Given the description of an element on the screen output the (x, y) to click on. 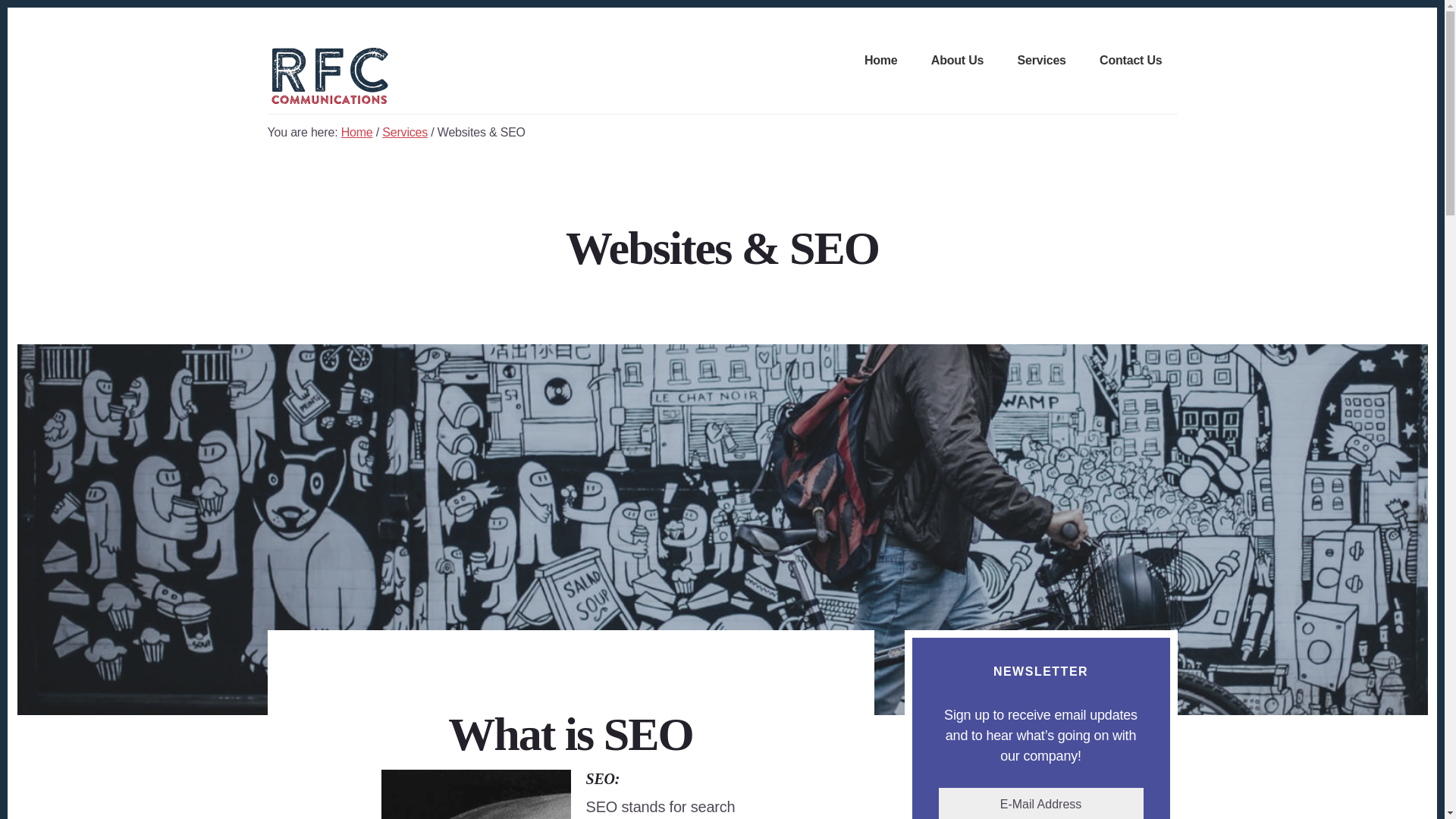
Services (404, 132)
Services (1041, 61)
Home (881, 61)
Home (356, 132)
About Us (957, 61)
Contact Us (1130, 61)
